Given the description of an element on the screen output the (x, y) to click on. 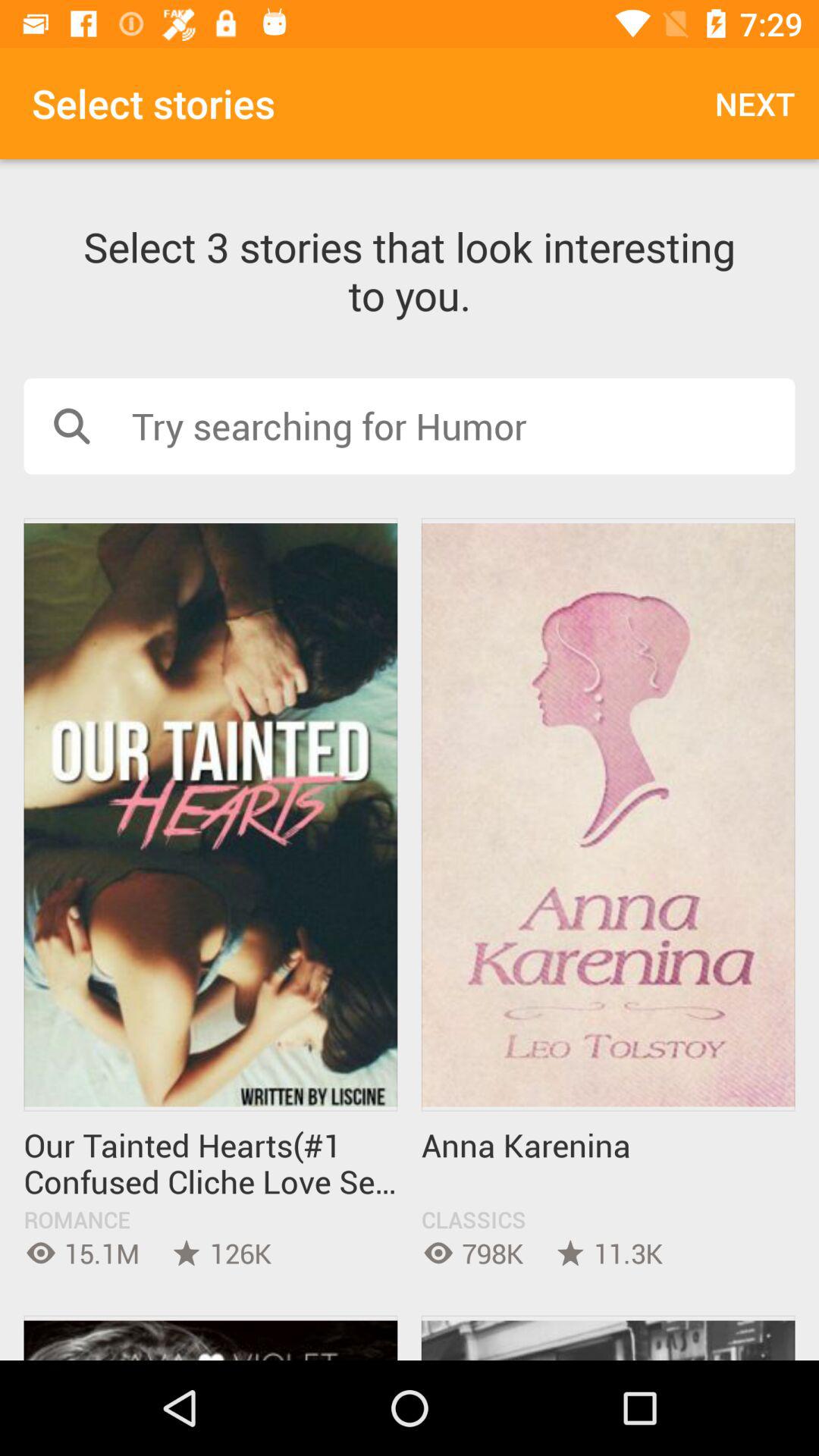
turn off icon at the top right corner (755, 103)
